Given the description of an element on the screen output the (x, y) to click on. 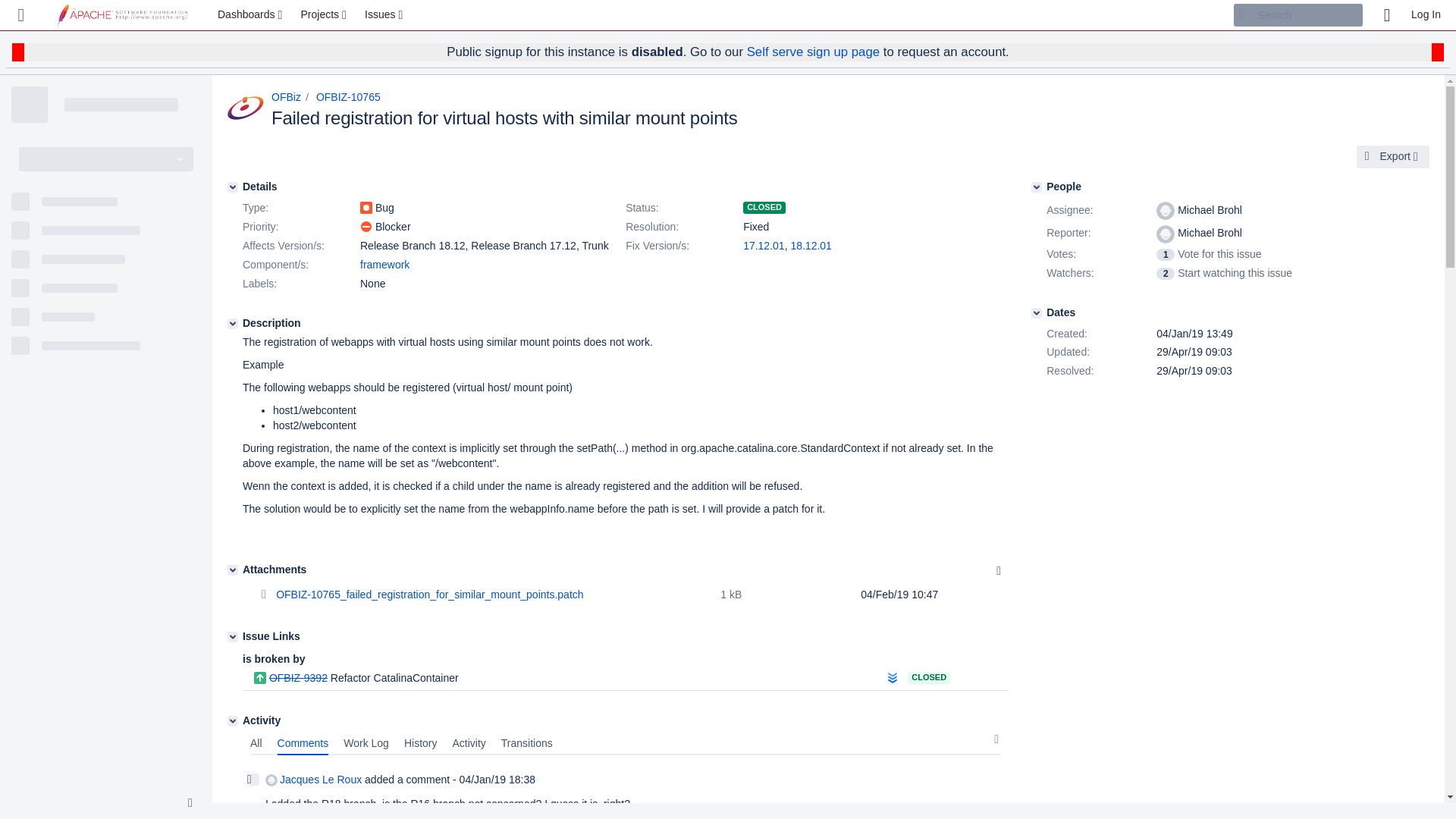
Search for issues and view recent issues (384, 15)
Self serve sign up page (812, 51)
Type (299, 208)
View and manage your dashboards (251, 15)
OFBiz (285, 96)
18.12.01 (810, 245)
Linked Applications (20, 15)
Issues (384, 15)
Log In (1425, 15)
View recent projects and browse a list of projects (324, 15)
Dashboards (251, 15)
Options (998, 570)
OFBIZ-10765 (347, 96)
Help (1386, 15)
Projects (324, 15)
